Given the description of an element on the screen output the (x, y) to click on. 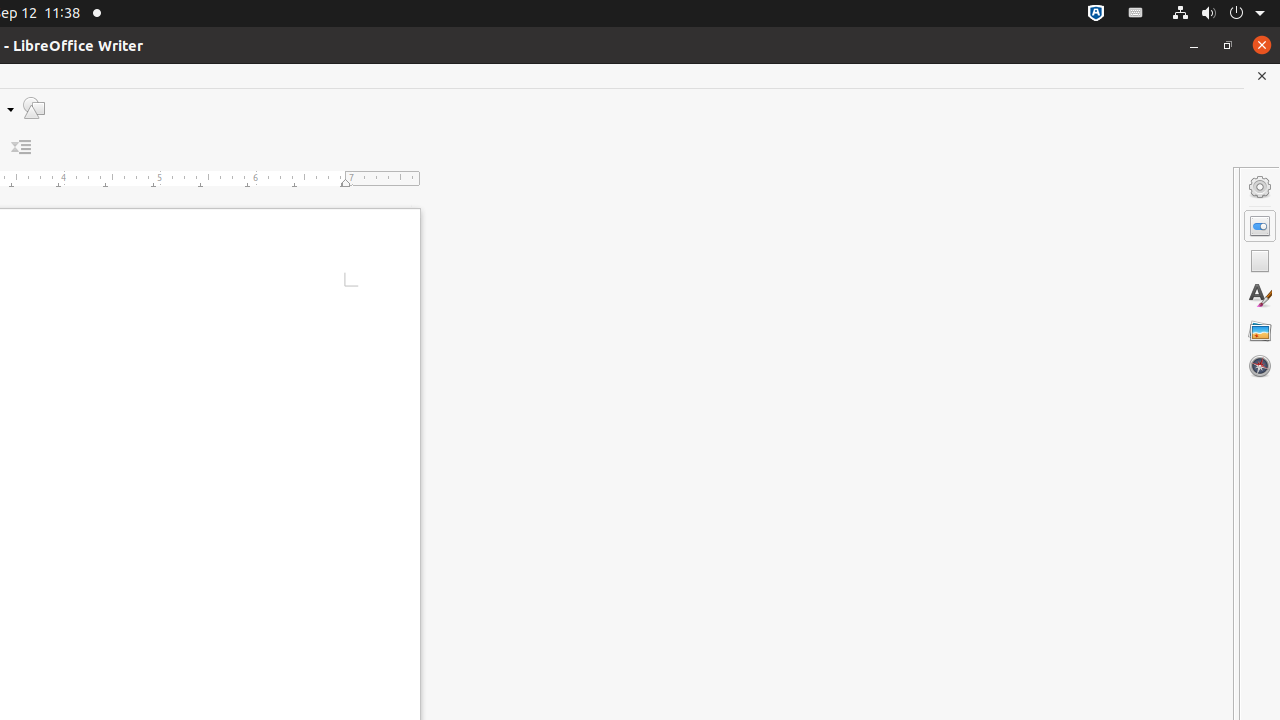
Navigator Element type: radio-button (1260, 366)
Draw Functions Element type: push-button (33, 108)
Decrease Element type: push-button (21, 147)
Page Element type: radio-button (1260, 261)
org.kde.StatusNotifierItem-14077-1 Element type: menu (1136, 13)
